Given the description of an element on the screen output the (x, y) to click on. 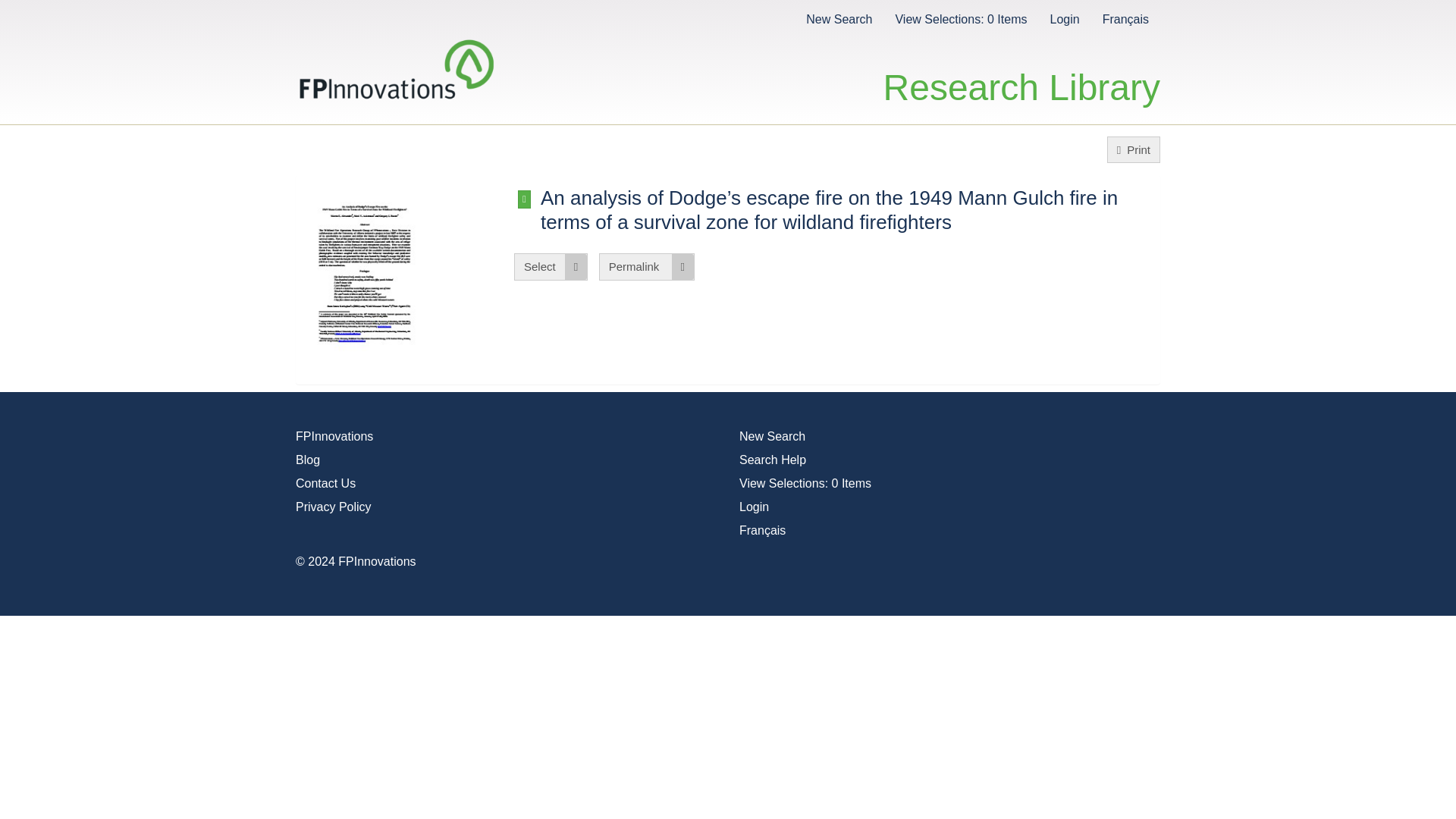
Select (550, 266)
Research Library (1021, 71)
Toggle Full Record (524, 199)
Contact Us (325, 482)
Blog (307, 459)
FPInnovations (333, 436)
View Selections: 0 Items (804, 482)
Search Help (772, 459)
New Search (838, 18)
View Selections: 0 Items (960, 18)
Permalink (646, 266)
Select (550, 266)
Print (1133, 149)
Toggle Full Record (849, 209)
Login (753, 506)
